Given the description of an element on the screen output the (x, y) to click on. 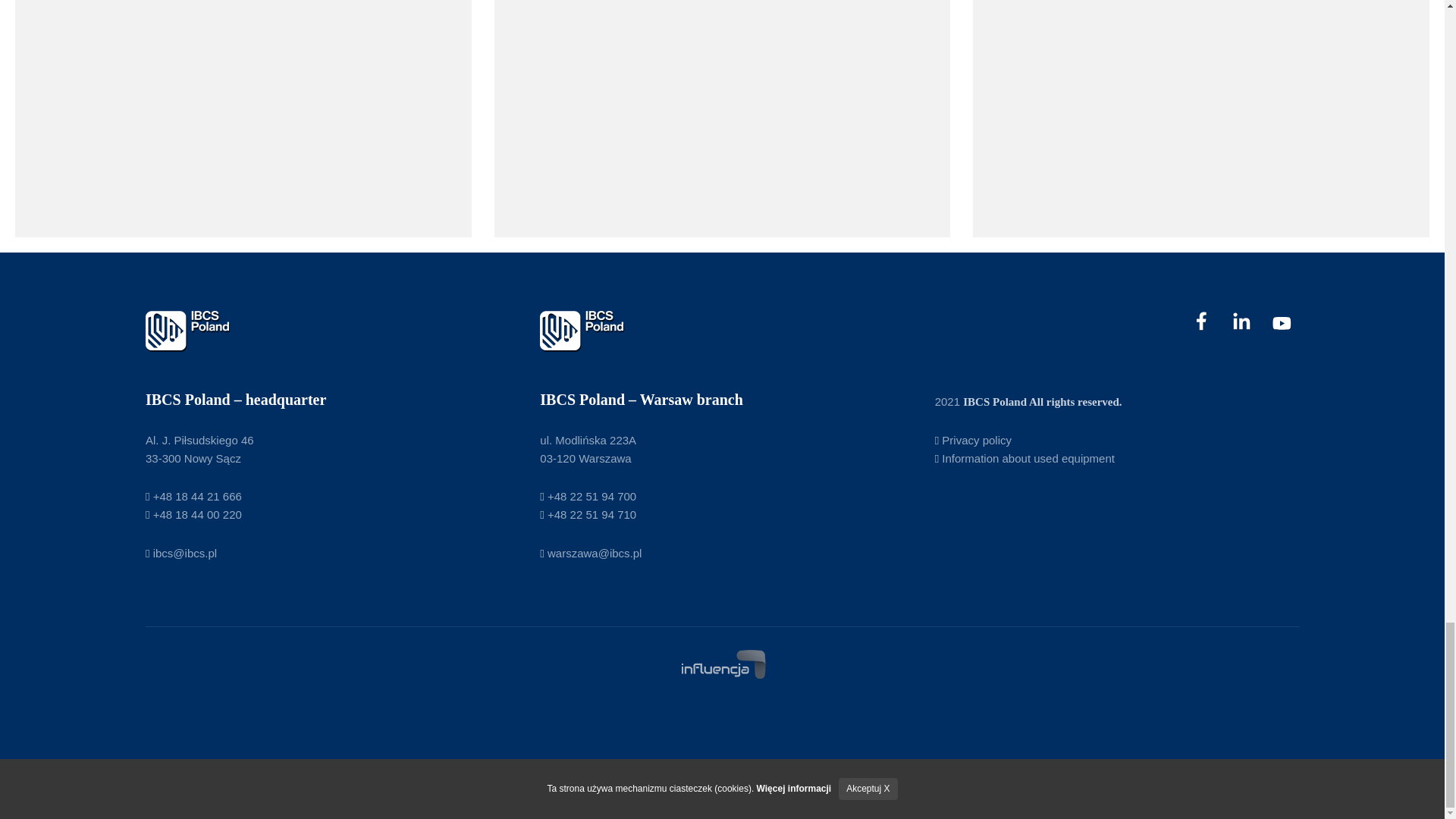
Information about used equipment (1024, 458)
Suspended whiteboards (242, 118)
Non-stick labels (722, 118)
Labels for boxes and crates (1200, 118)
Privacy policy (972, 440)
